Given the description of an element on the screen output the (x, y) to click on. 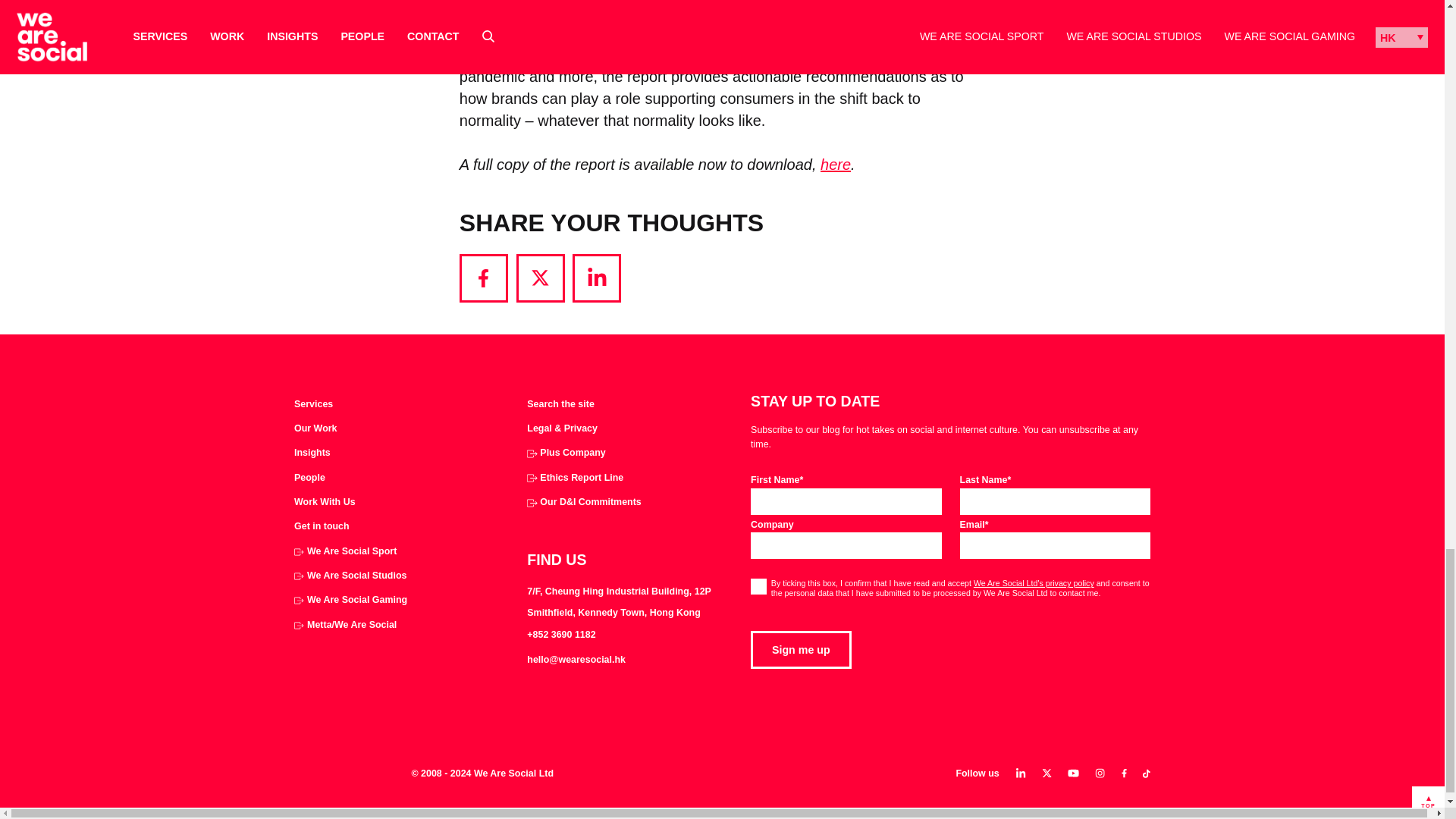
We Are Social Sport (345, 551)
We Are Social Gaming (350, 600)
Services (313, 404)
Work With Us (324, 502)
Insights (312, 453)
We Are Social Studios (350, 575)
Share via LinkedIn (596, 277)
here (835, 164)
Share via Facebook (484, 277)
Share via LinkedIn (596, 277)
Our Work (315, 428)
Share via Facebook (484, 277)
Services (313, 404)
Insights (312, 453)
